Given the description of an element on the screen output the (x, y) to click on. 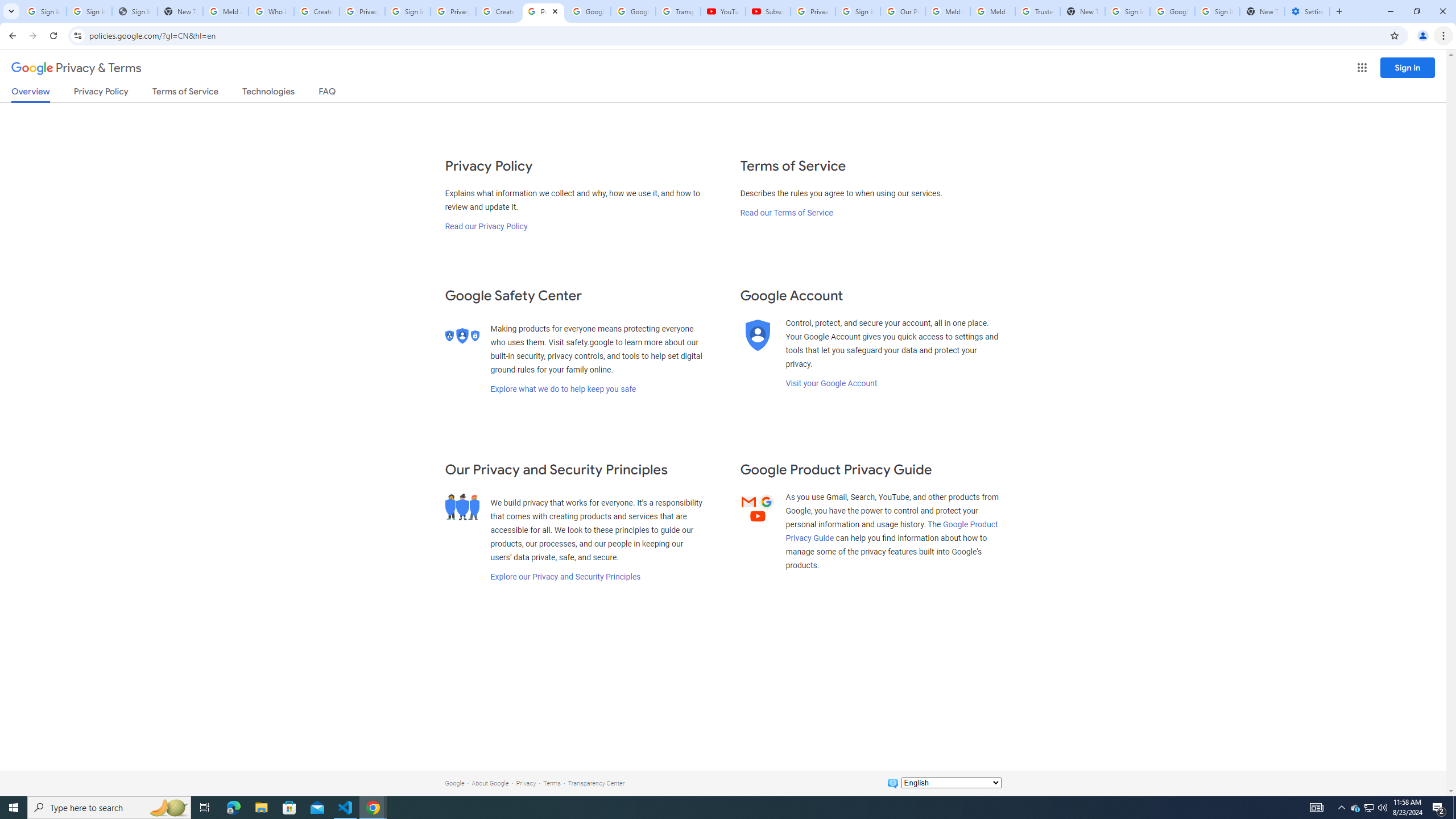
Create your Google Account (316, 11)
Who is my administrator? - Google Account Help (270, 11)
